Given the description of an element on the screen output the (x, y) to click on. 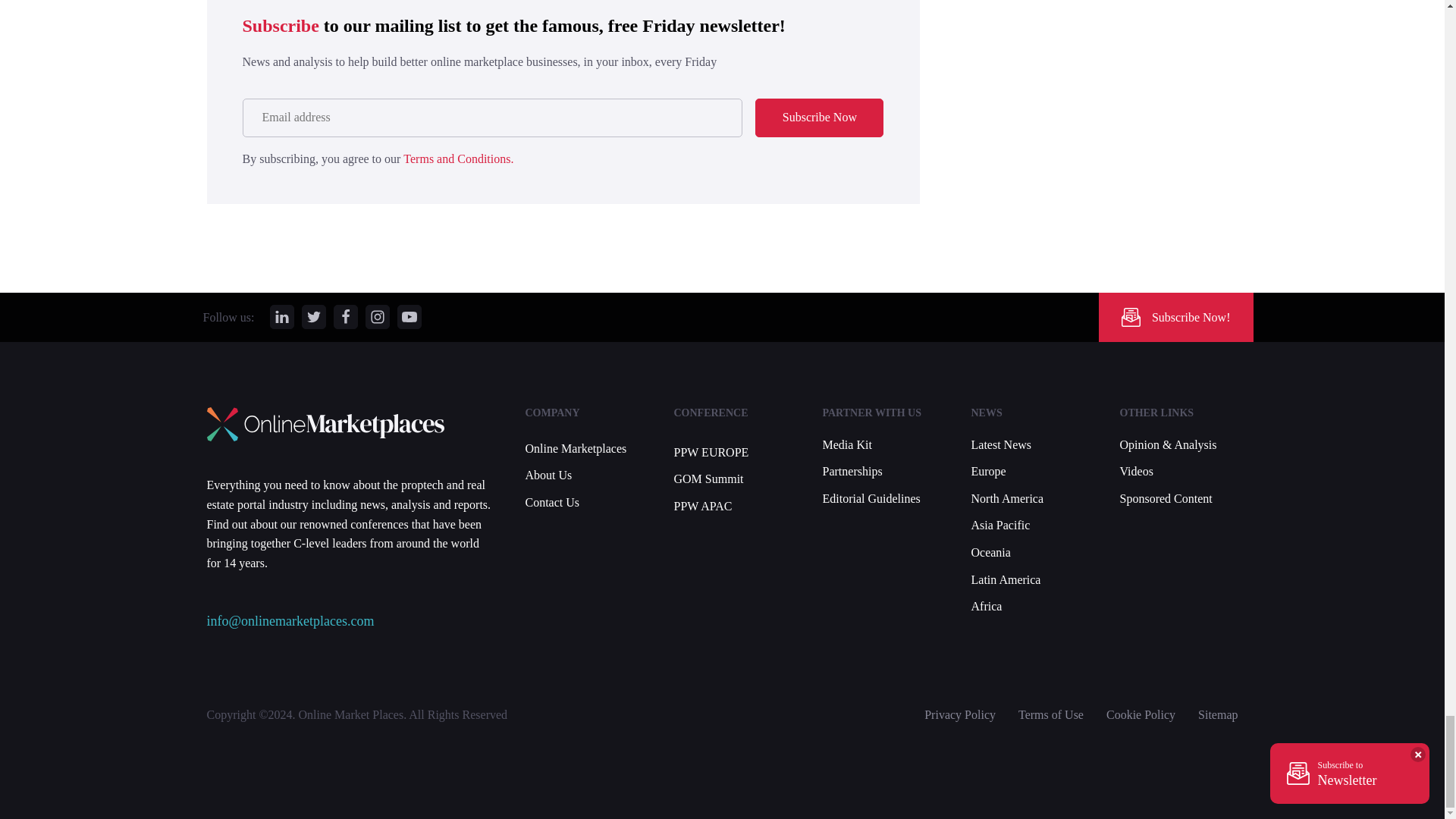
Subscribe Now (819, 117)
Subscribe Now (819, 117)
